Given the description of an element on the screen output the (x, y) to click on. 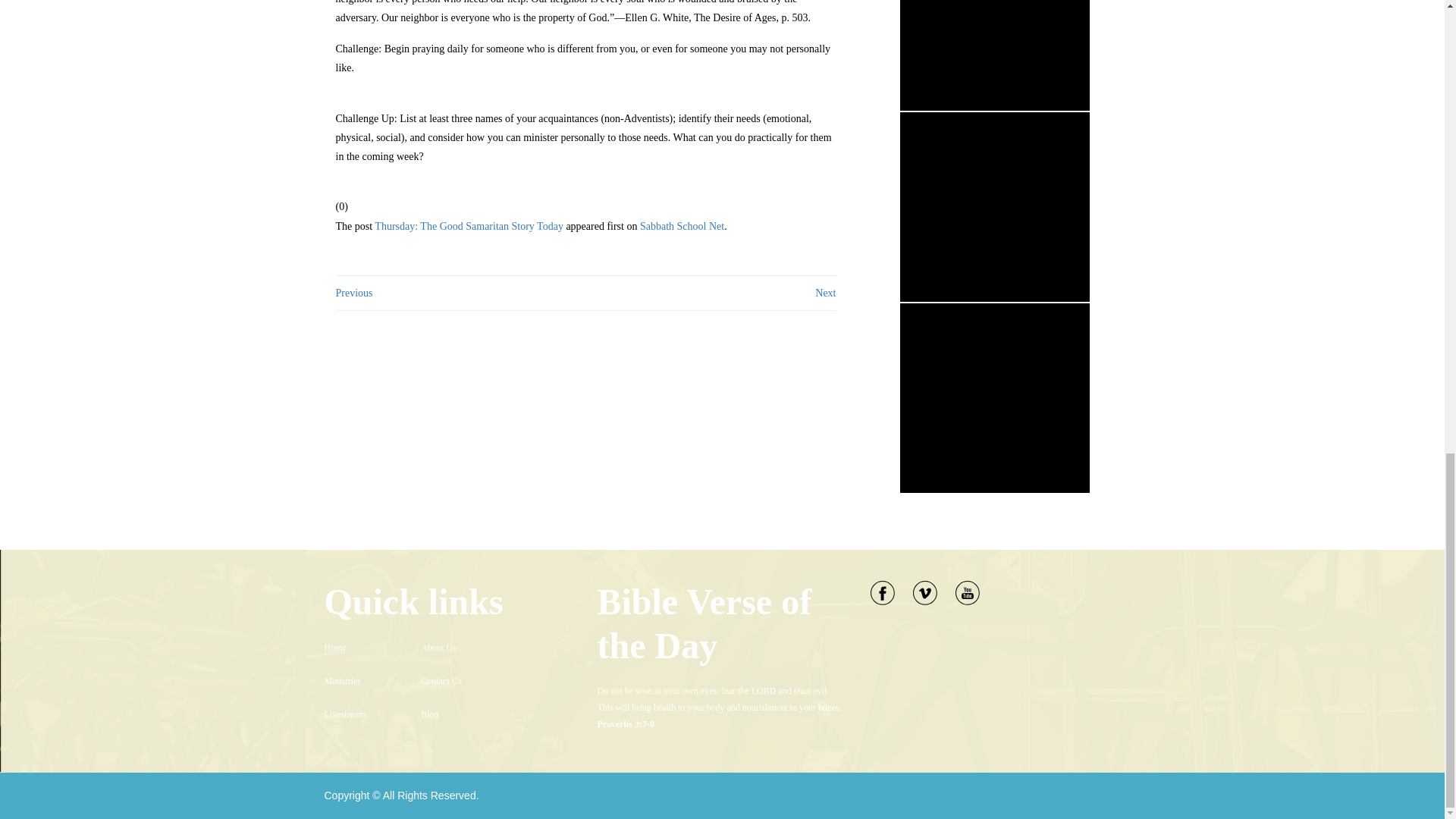
Sabbath School Net (681, 225)
Next (825, 292)
Previous (353, 292)
Thursday: The Good Samaritan Story Today (468, 225)
